Given the description of an element on the screen output the (x, y) to click on. 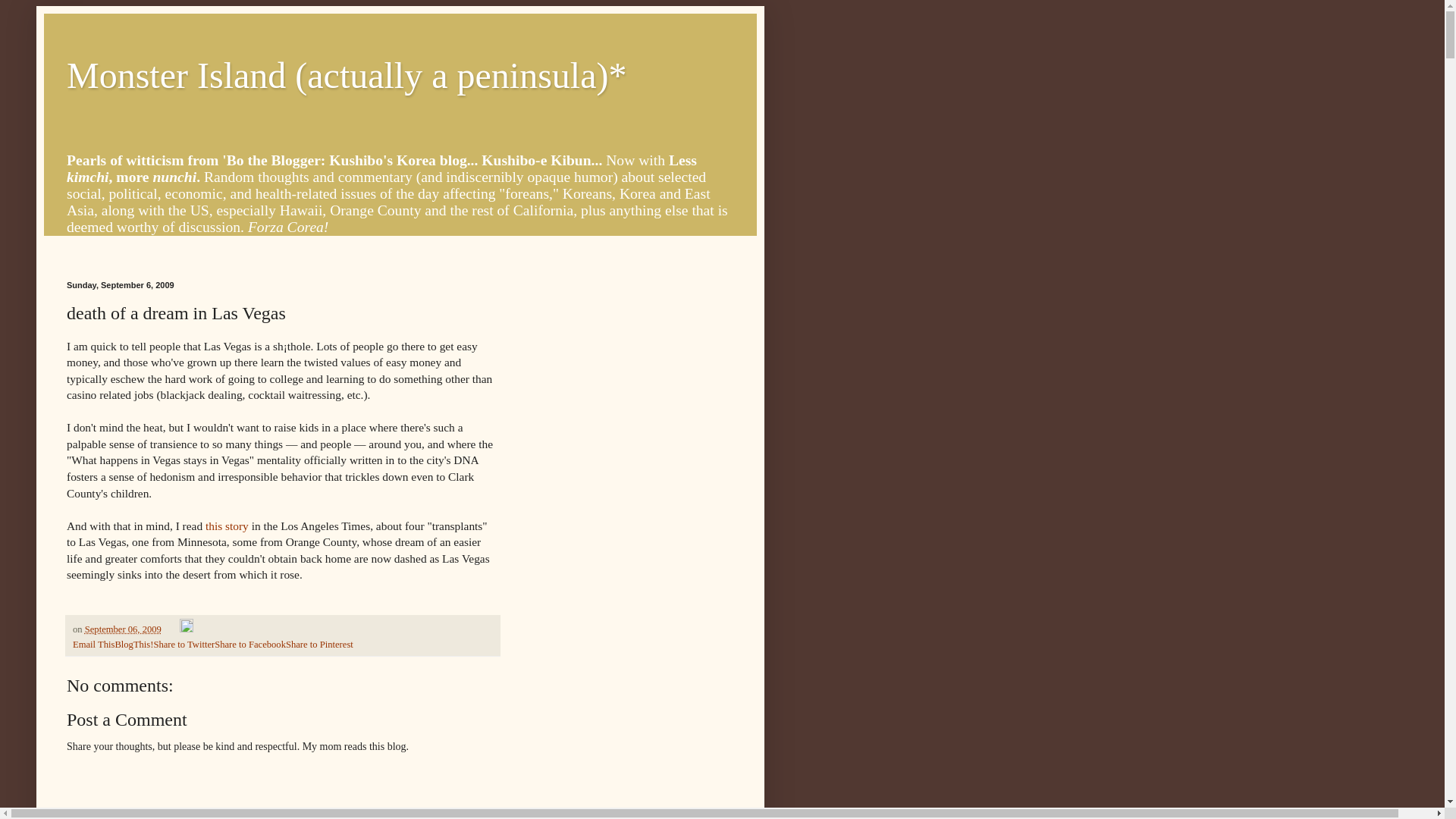
Share to Pinterest (319, 644)
Share to Pinterest (319, 644)
this story (226, 525)
BlogThis! (133, 644)
Email This (93, 644)
September 06, 2009 (122, 629)
Email This (93, 644)
BlogThis! (133, 644)
Share to Facebook (249, 644)
Share to Twitter (183, 644)
Email Post (171, 629)
permanent link (122, 629)
Edit Post (186, 629)
Share to Twitter (183, 644)
Share to Facebook (249, 644)
